Given the description of an element on the screen output the (x, y) to click on. 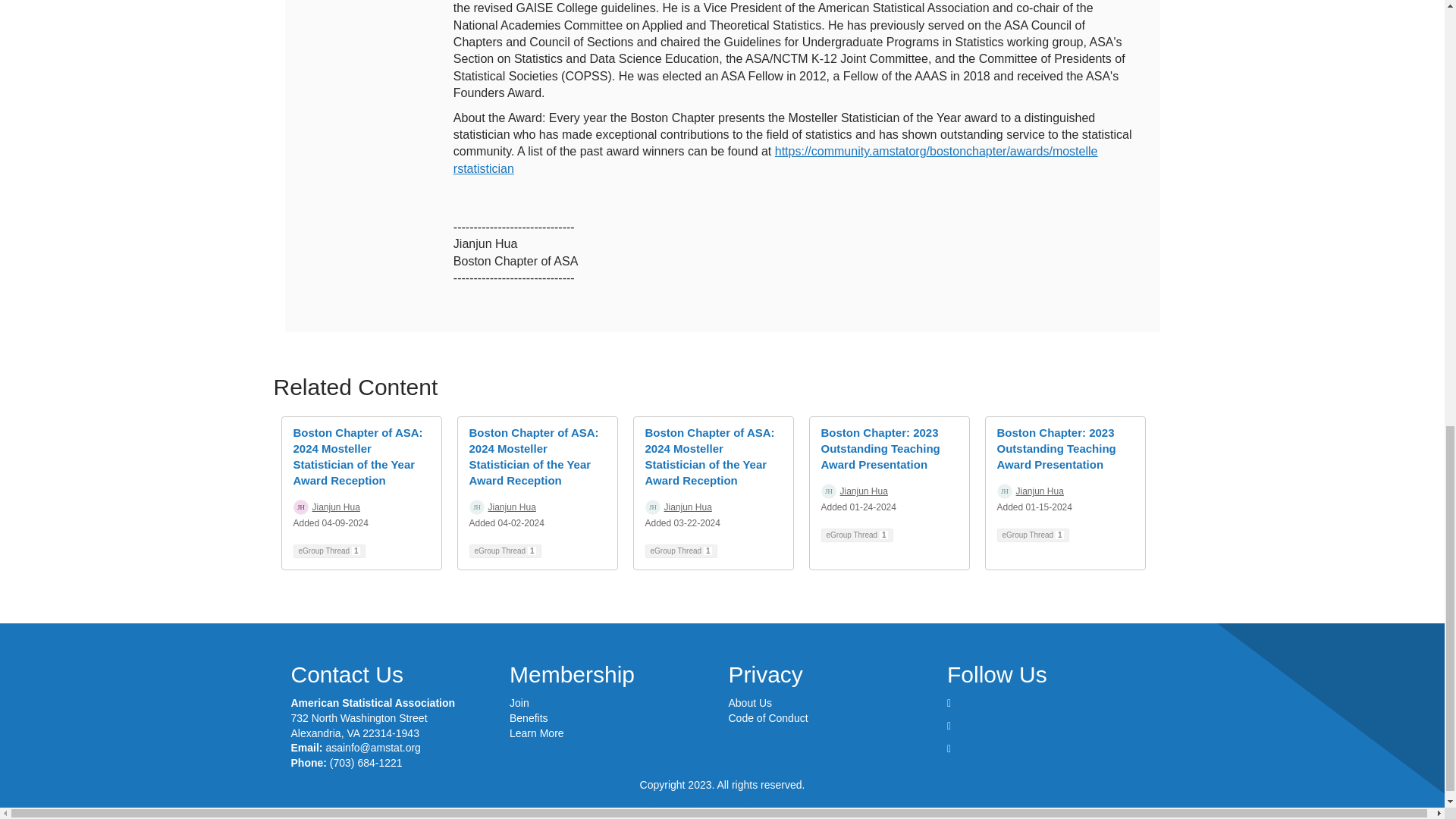
Jianjun Hua (687, 507)
Jianjun Hua (511, 507)
Boston Chapter: 2023 Outstanding Teaching Award Presentation (880, 447)
Jianjun Hua (864, 491)
Boston Chapter: 2023 Outstanding Teaching Award Presentation (1055, 447)
Jianjun Hua (1040, 491)
Jianjun Hua (336, 507)
